Given the description of an element on the screen output the (x, y) to click on. 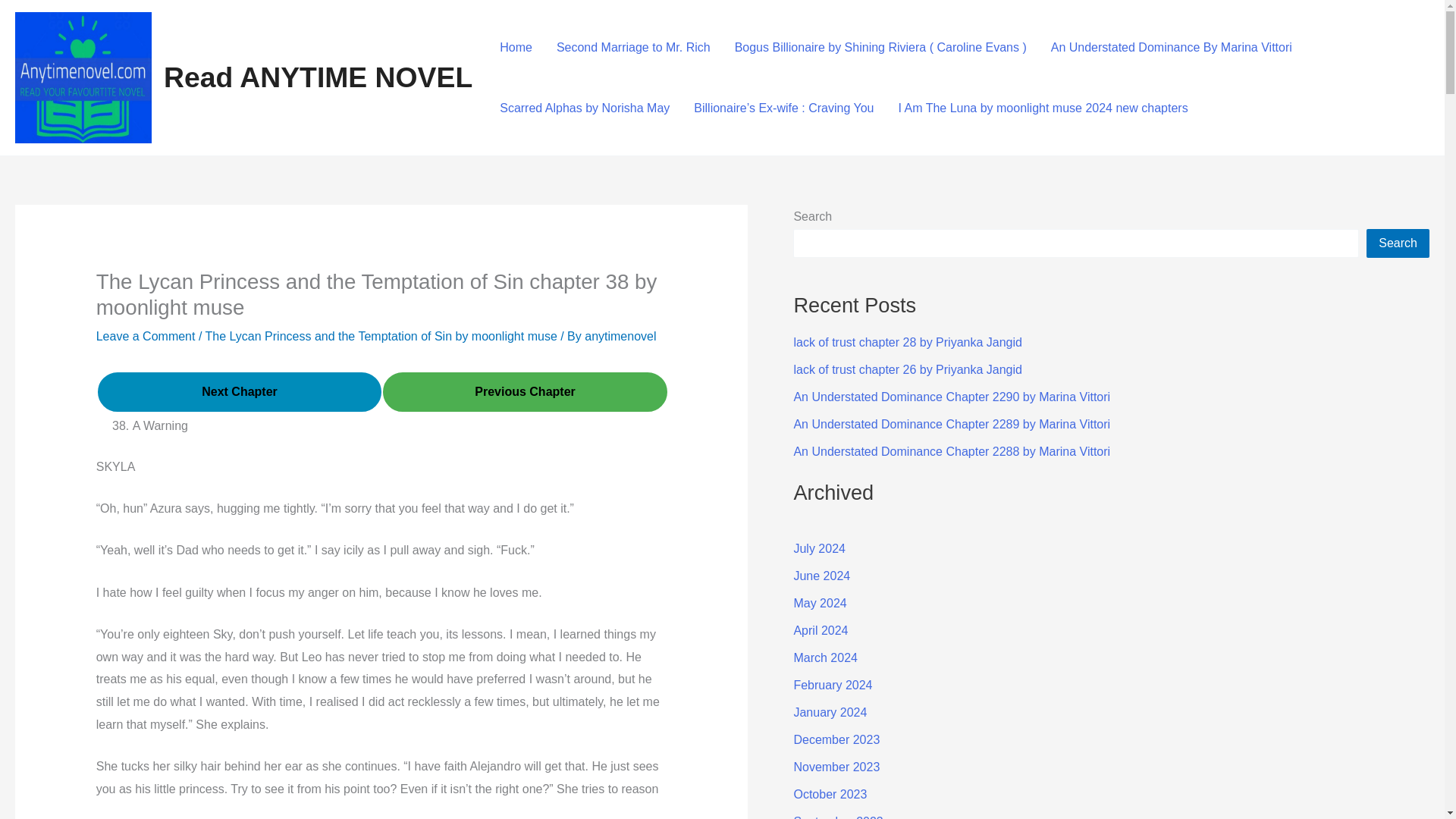
Next Chapter (239, 391)
Previous Chapter (524, 391)
Home (515, 46)
An Understated Dominance By Marina Vittori (1171, 46)
Second Marriage to Mr. Rich (633, 46)
Previous Chapter (524, 391)
Read ANYTIME NOVEL (317, 77)
Scarred Alphas by Norisha May (584, 107)
Leave a Comment (145, 336)
anytimenovel (620, 336)
Next Chapter (240, 391)
View all posts by anytimenovel (620, 336)
